Given the description of an element on the screen output the (x, y) to click on. 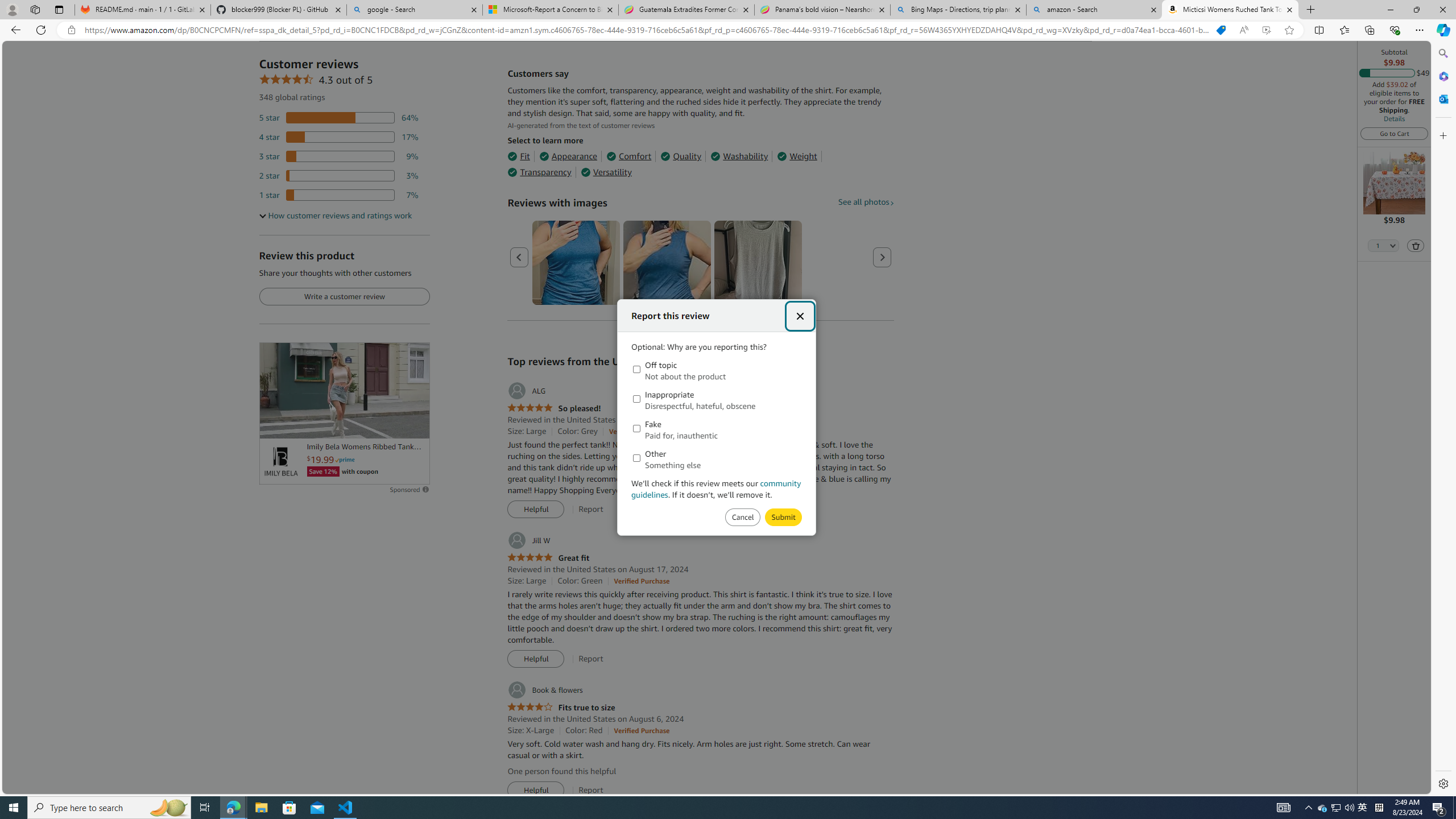
Prime (344, 459)
64 percent of reviews have 5 stars (339, 117)
community guidelines (715, 488)
